Given the description of an element on the screen output the (x, y) to click on. 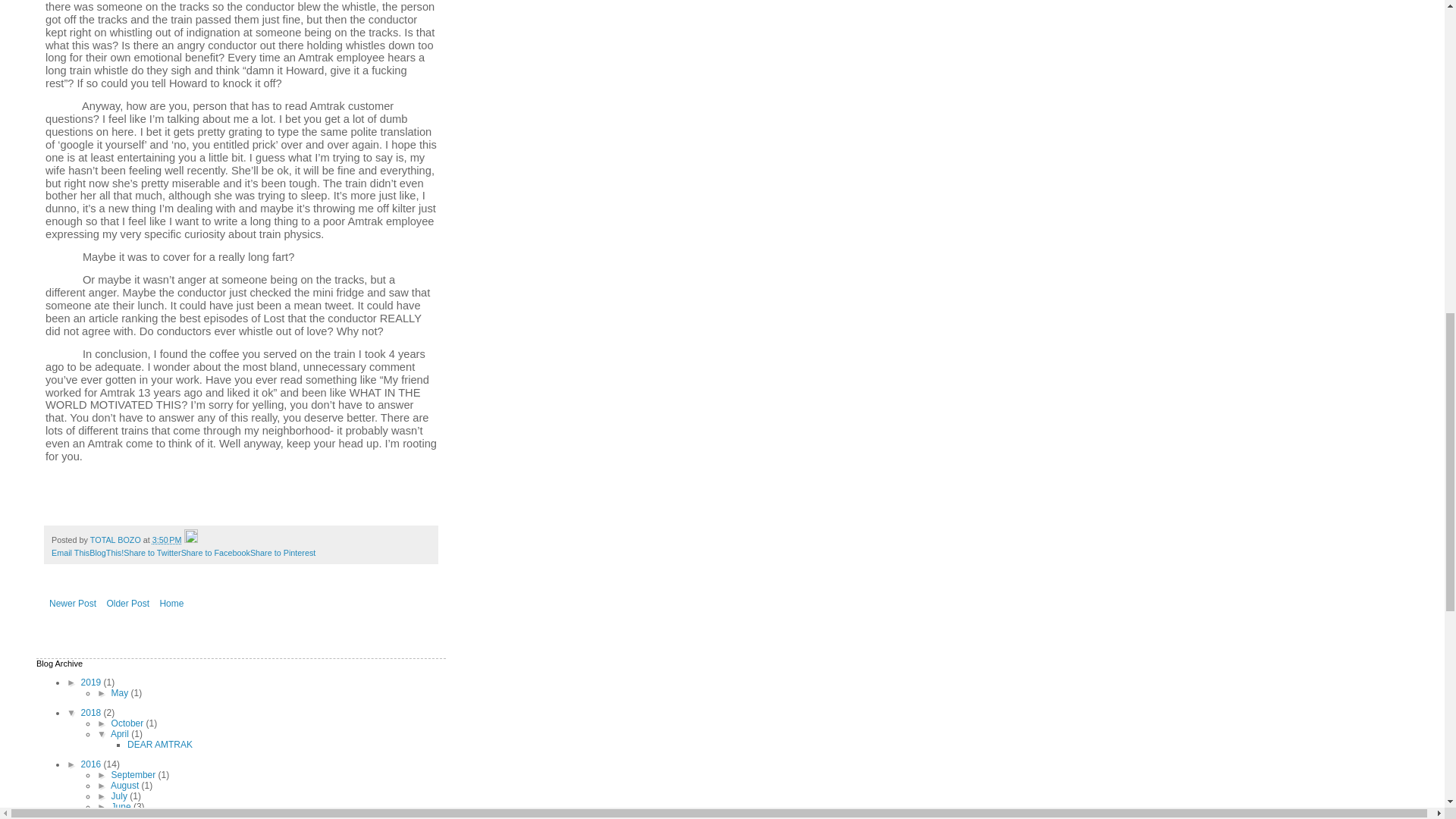
BlogThis! (105, 552)
Share to Pinterest (282, 552)
June (122, 806)
author profile (116, 539)
Edit Post (191, 539)
October (129, 723)
Share to Facebook (215, 552)
Share to Facebook (215, 552)
Share to Twitter (151, 552)
